Given the description of an element on the screen output the (x, y) to click on. 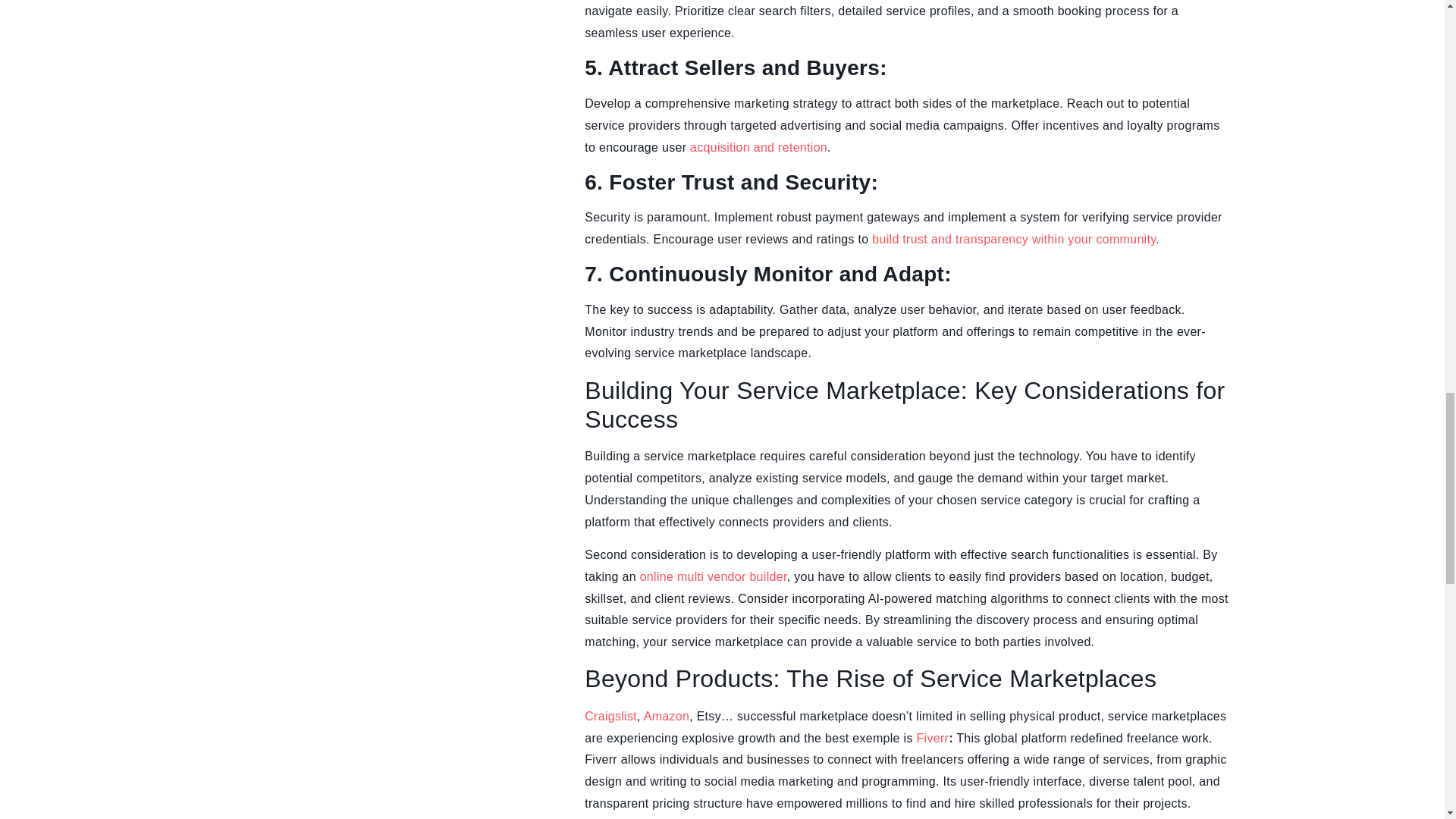
Craigslist (611, 716)
Fiverr (932, 738)
Amazon (666, 716)
build trust and transparency within your community (1014, 238)
acquisition and retention (758, 146)
online multi vendor builder (713, 576)
